Given the description of an element on the screen output the (x, y) to click on. 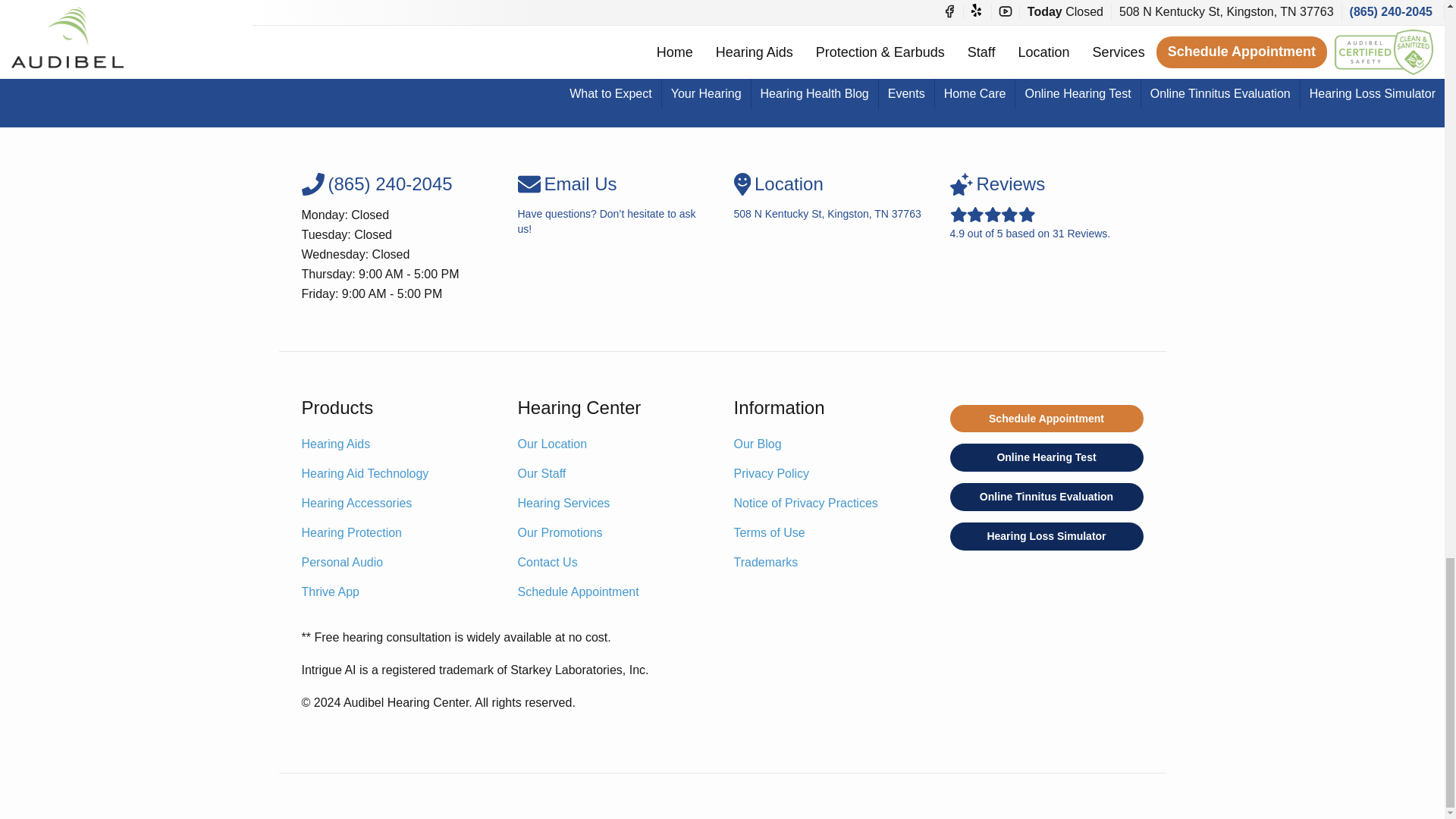
Schedule Now (722, 81)
